Given the description of an element on the screen output the (x, y) to click on. 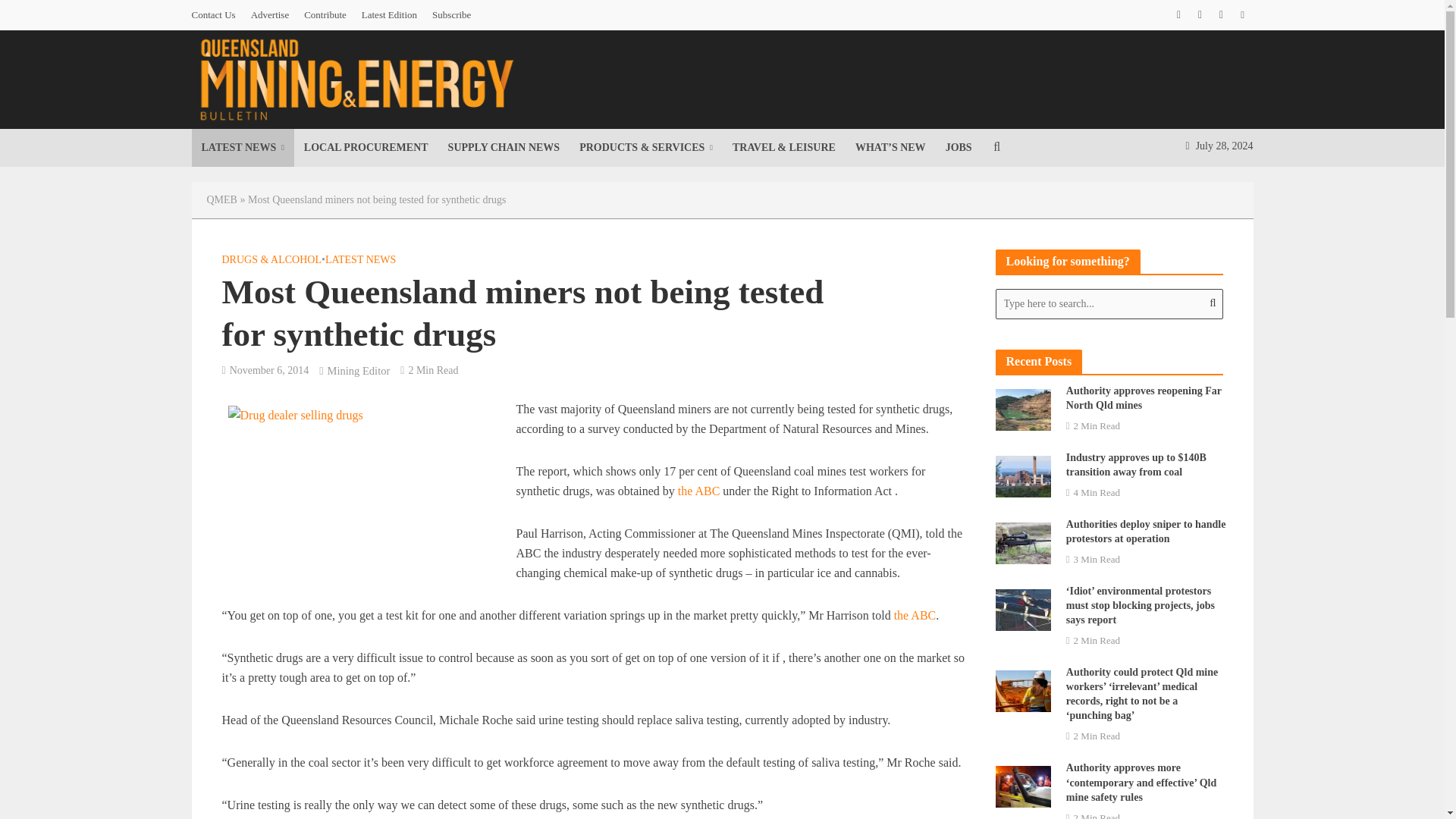
Latest Edition (389, 15)
Authority approves reopening Far North Qld mines (1021, 408)
Advertise (270, 15)
Most Queensland miners not being tested for synthetic drugs (368, 498)
Contribute (325, 15)
Authorities deploy sniper to handle protestors at operation (1021, 541)
Contact Us (216, 15)
SUPPLY CHAIN NEWS (504, 147)
LATEST NEWS (242, 147)
LOCAL PROCUREMENT (366, 147)
Subscribe (452, 15)
